Given the description of an element on the screen output the (x, y) to click on. 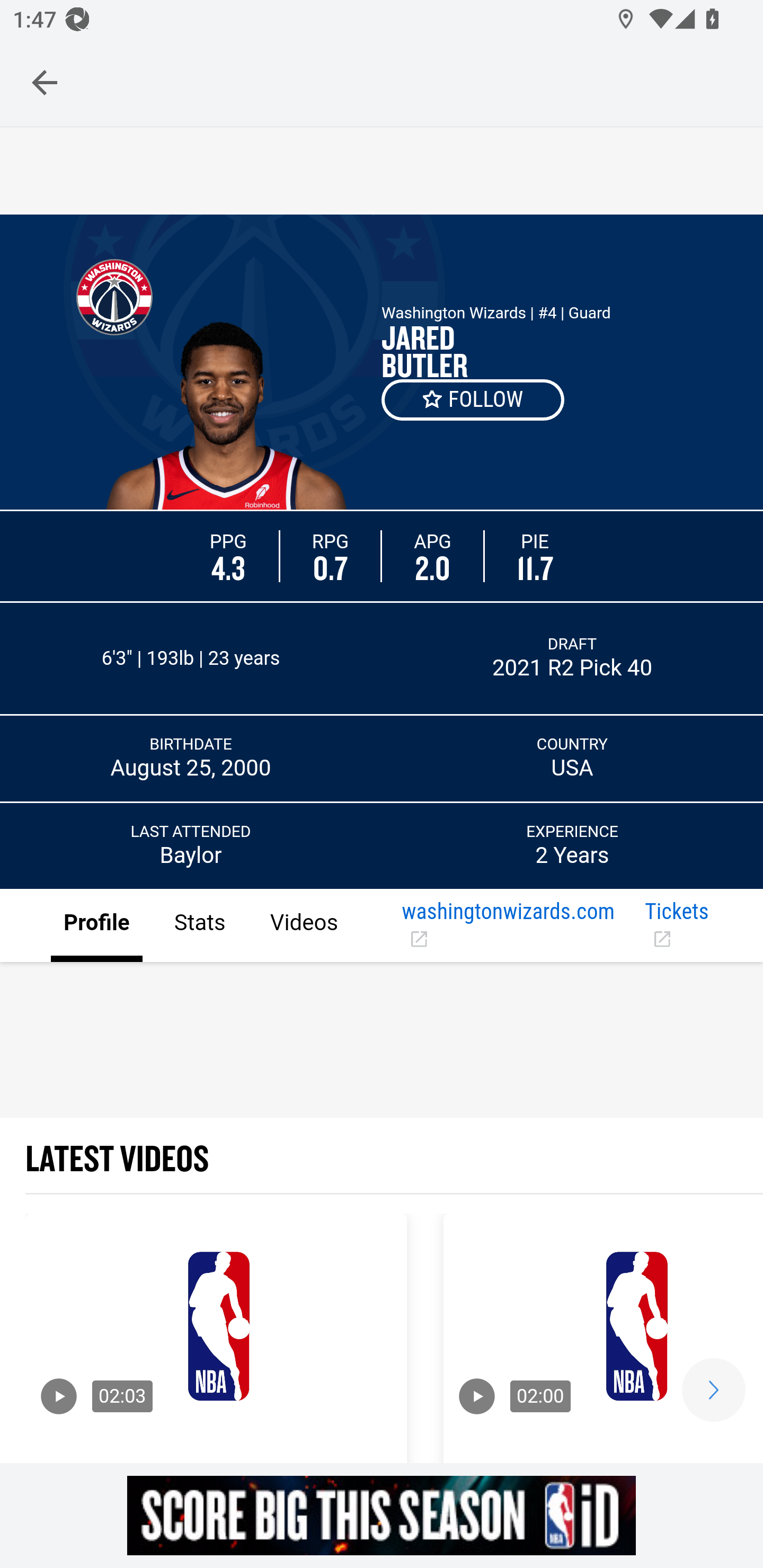
Navigate up (44, 82)
Washington Wizards Logo (114, 297)
FOLLOW (473, 399)
Profile (97, 926)
Stats (199, 926)
Videos (302, 926)
washingtonwizards.com (516, 926)
Tickets (686, 926)
Carousel Button (713, 1389)
